Given the description of an element on the screen output the (x, y) to click on. 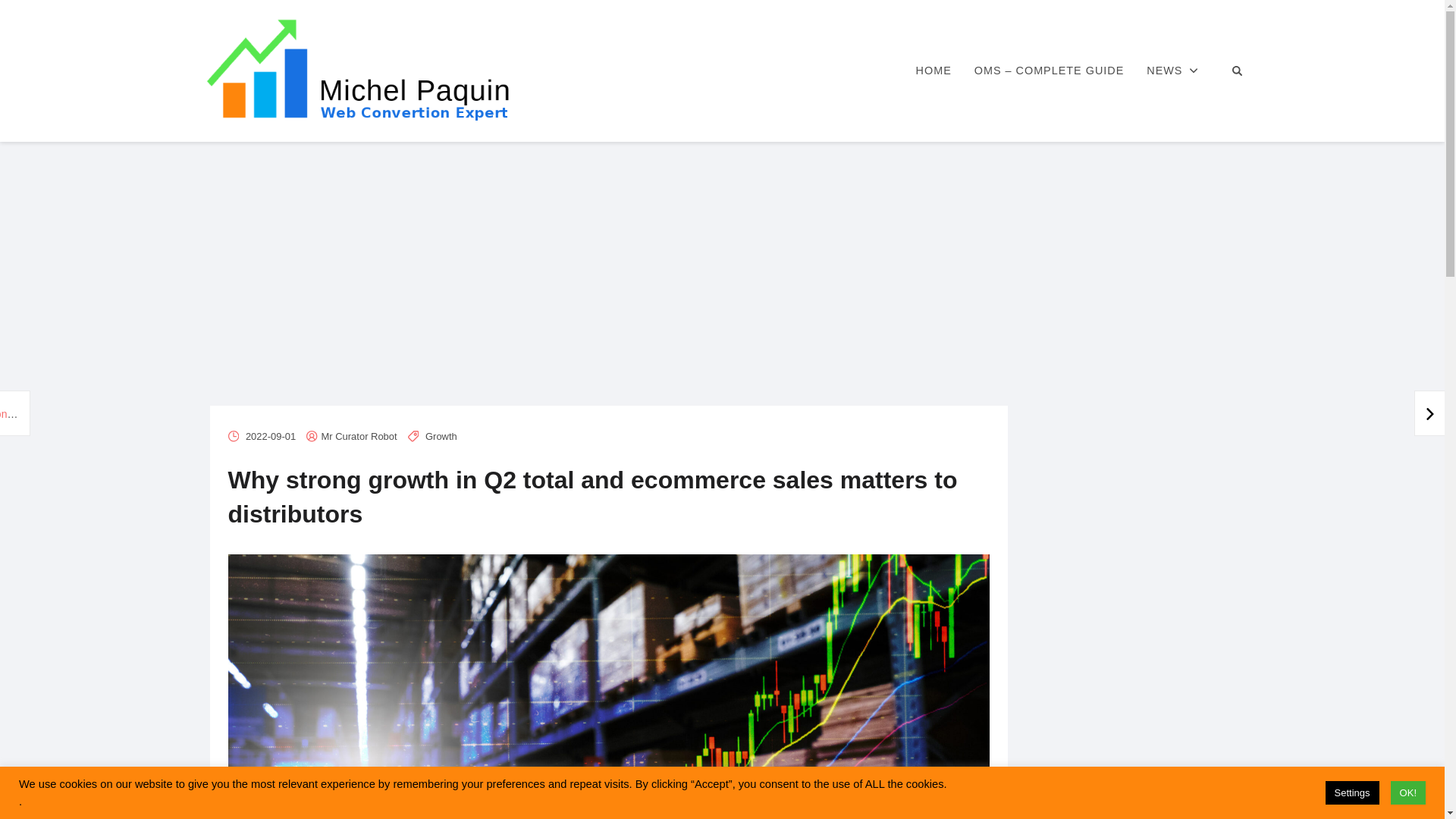
Mr Curator Robot (359, 436)
Growth (441, 436)
OK! (1407, 792)
HOME (933, 70)
NEWS (1171, 70)
Settings (1351, 792)
2022-09-01 (270, 436)
